Given the description of an element on the screen output the (x, y) to click on. 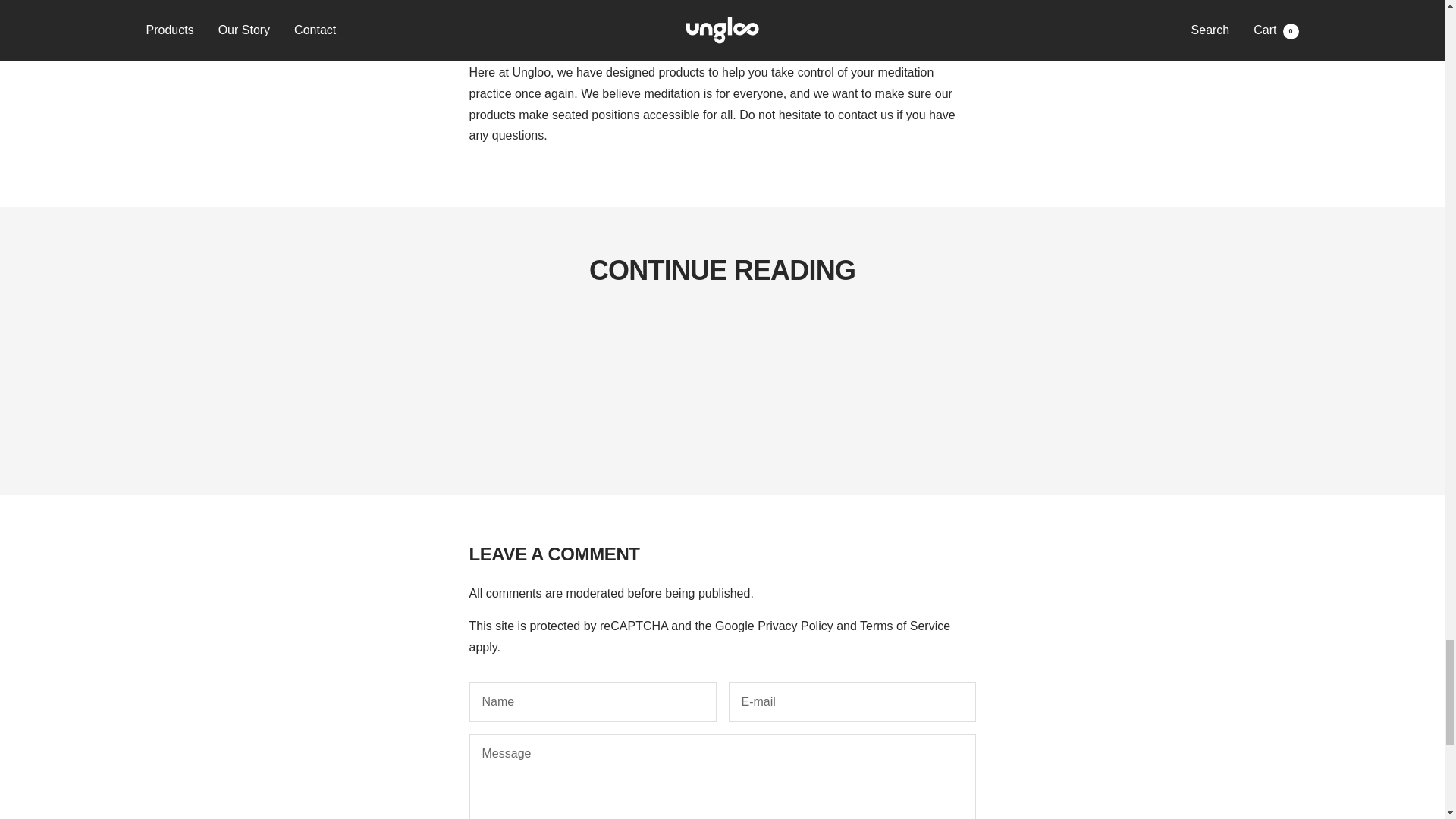
contact us (865, 114)
